Given the description of an element on the screen output the (x, y) to click on. 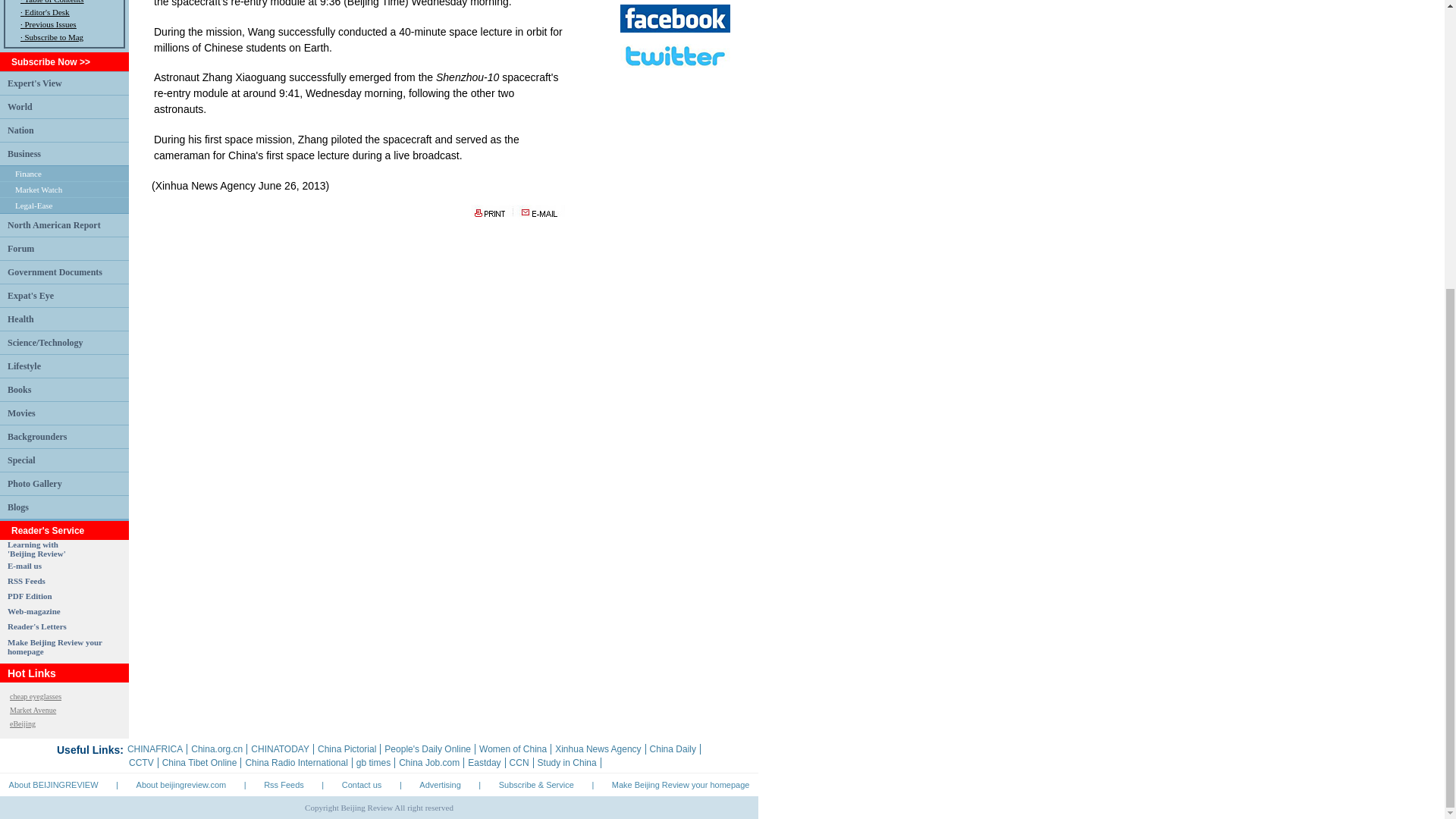
E-mail us (24, 565)
Editor's Desk (46, 11)
Previous Issues (49, 23)
Lifestyle (23, 366)
Expert's View (34, 81)
Make Beijing Review your homepage (54, 647)
Health (20, 318)
Government Documents (54, 271)
Backgrounders (36, 435)
Books (18, 388)
RSS Feeds (26, 580)
Forum (20, 247)
Market Watch (38, 189)
PDF Edition (29, 595)
Expat's Eye (30, 294)
